Given the description of an element on the screen output the (x, y) to click on. 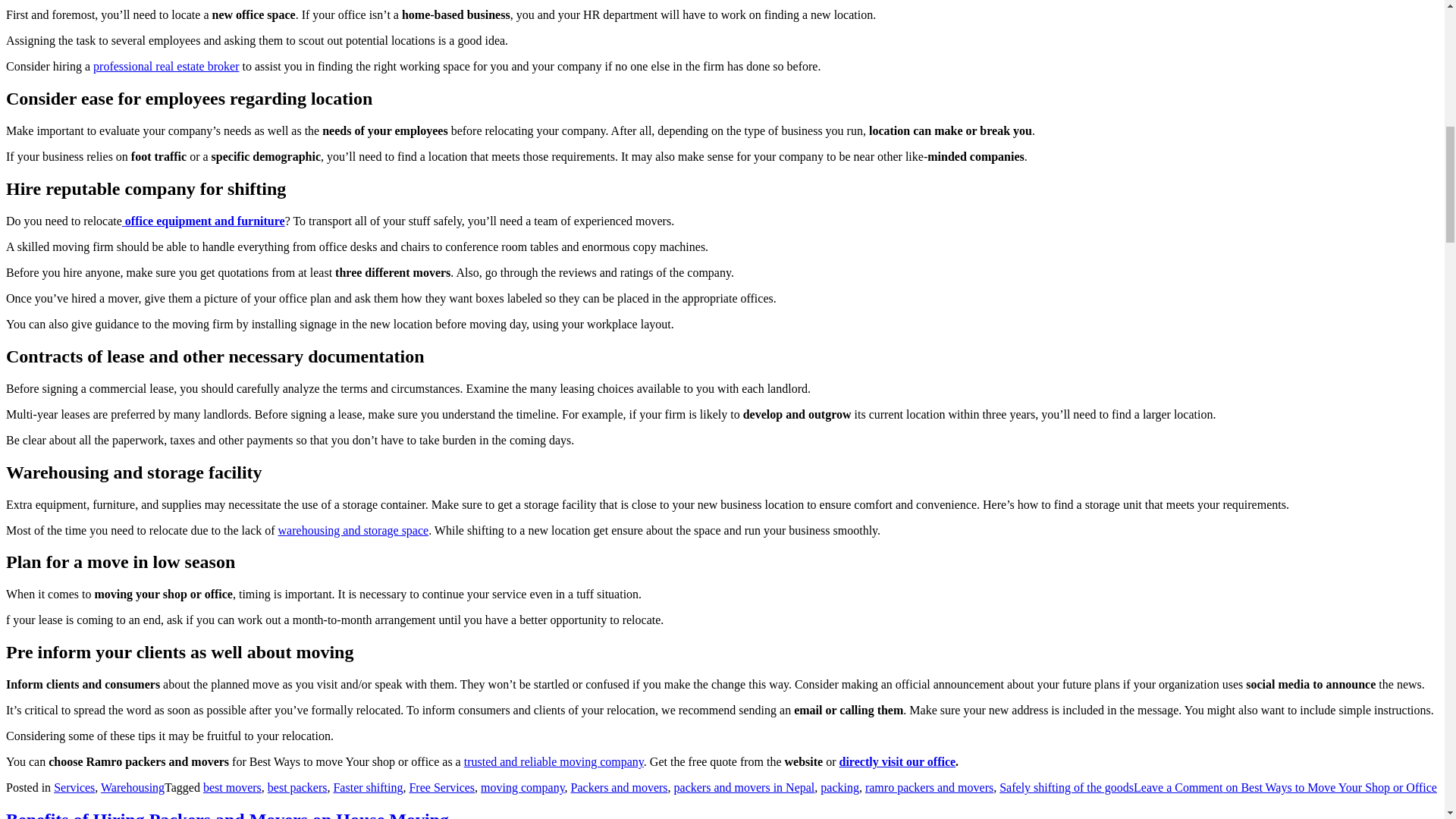
packing (840, 787)
directly visit our office (898, 761)
best packers (297, 787)
packers and movers in Nepal (744, 787)
trusted and reliable moving company (553, 761)
Packers and movers (619, 787)
warehousing and storage space (353, 529)
Services (73, 787)
office equipment and furniture (203, 220)
Faster shifting (368, 787)
professional real estate broker (165, 65)
moving company (522, 787)
Warehousing (132, 787)
Free Services (441, 787)
best movers (232, 787)
